Given the description of an element on the screen output the (x, y) to click on. 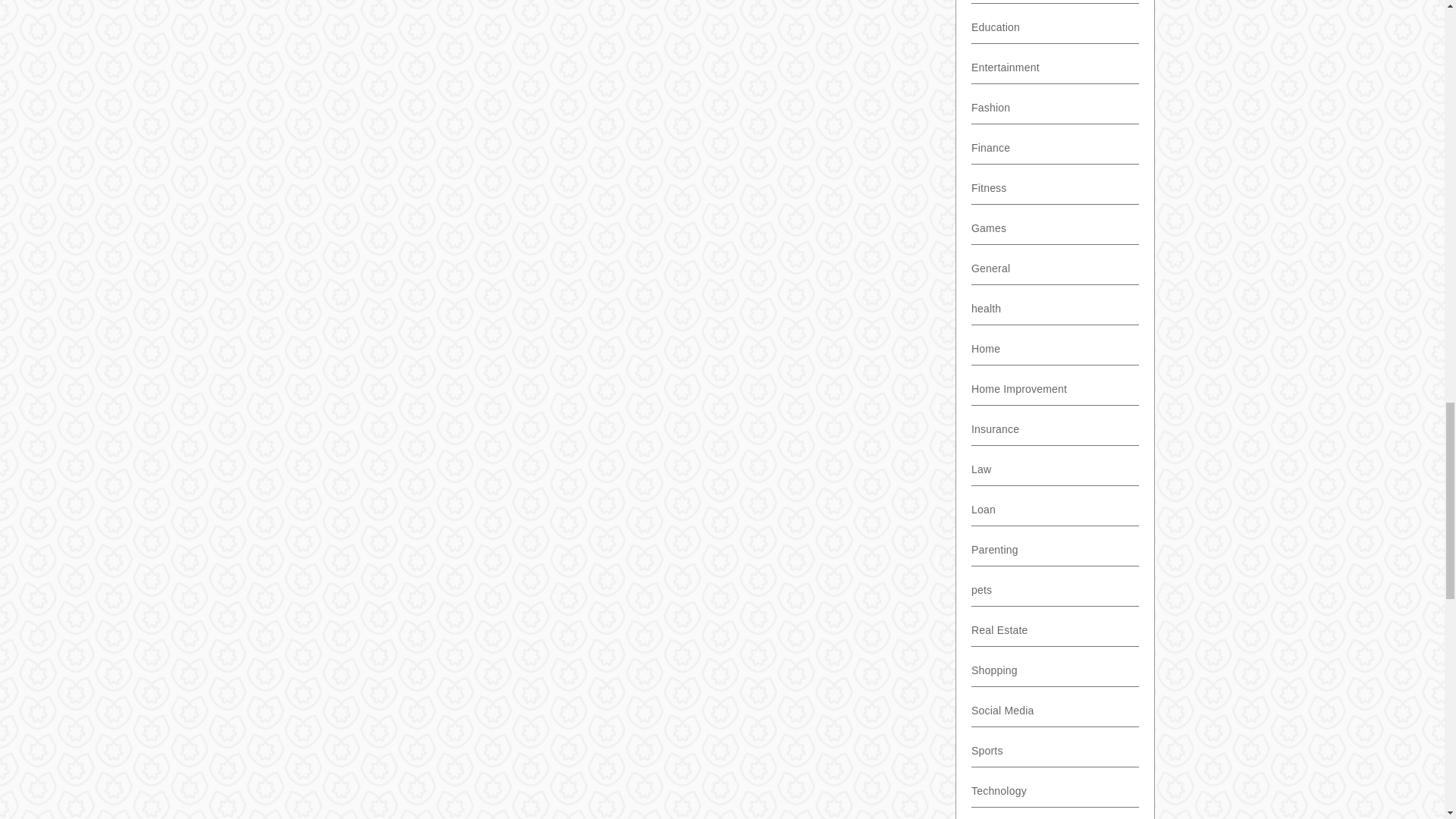
Home (985, 348)
Loan (983, 509)
pets (981, 589)
Fitness (985, 187)
Entertainment (1005, 67)
Law (981, 469)
General (990, 268)
Parenting (994, 549)
Finance (987, 147)
Insurance (995, 428)
